Given the description of an element on the screen output the (x, y) to click on. 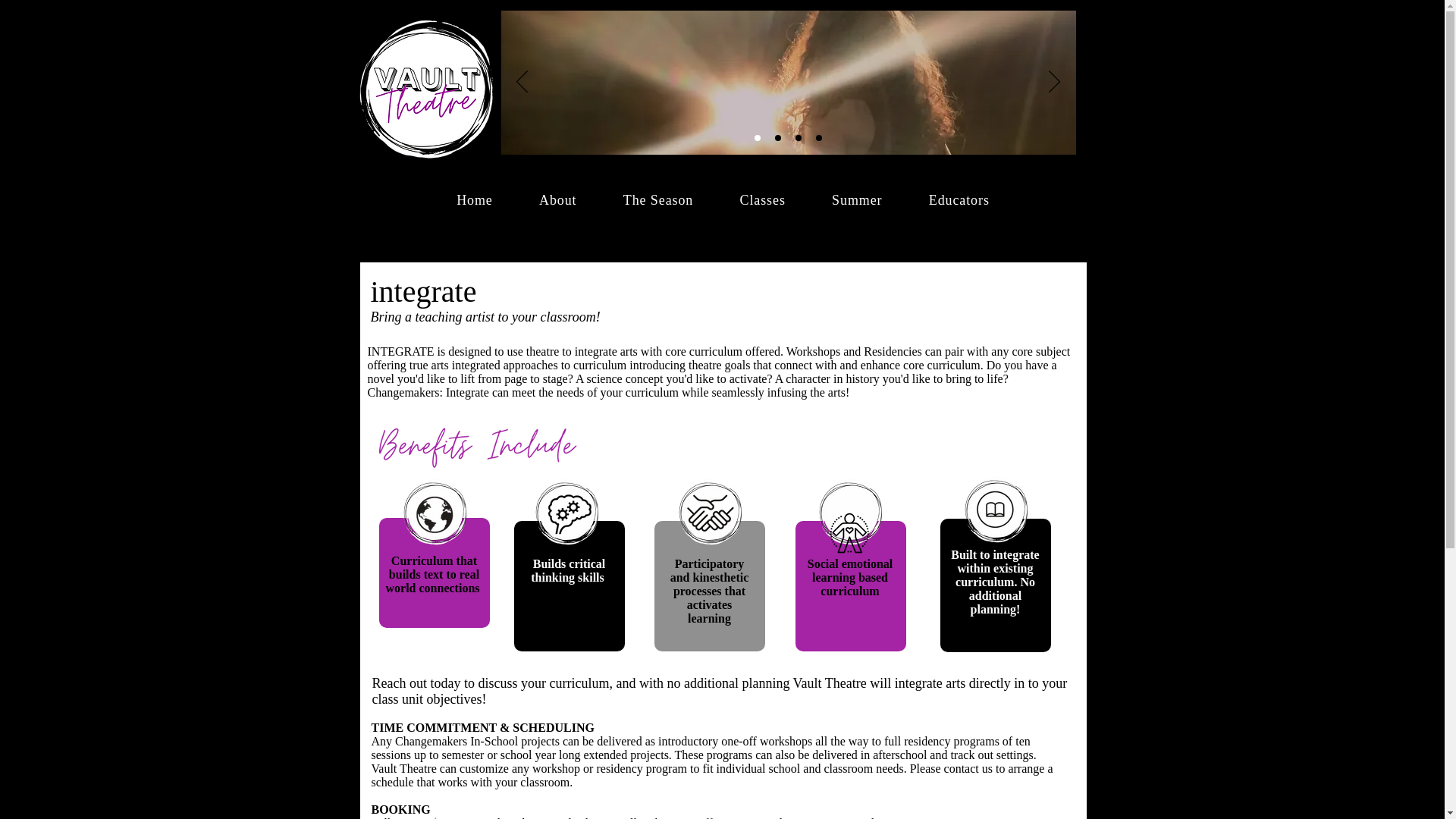
Background.png (708, 517)
Background.png (995, 514)
Background.png (566, 517)
Home (474, 200)
About (557, 200)
Background.png (435, 517)
Background.png (849, 517)
Benefits Include.png (478, 446)
